Given the description of an element on the screen output the (x, y) to click on. 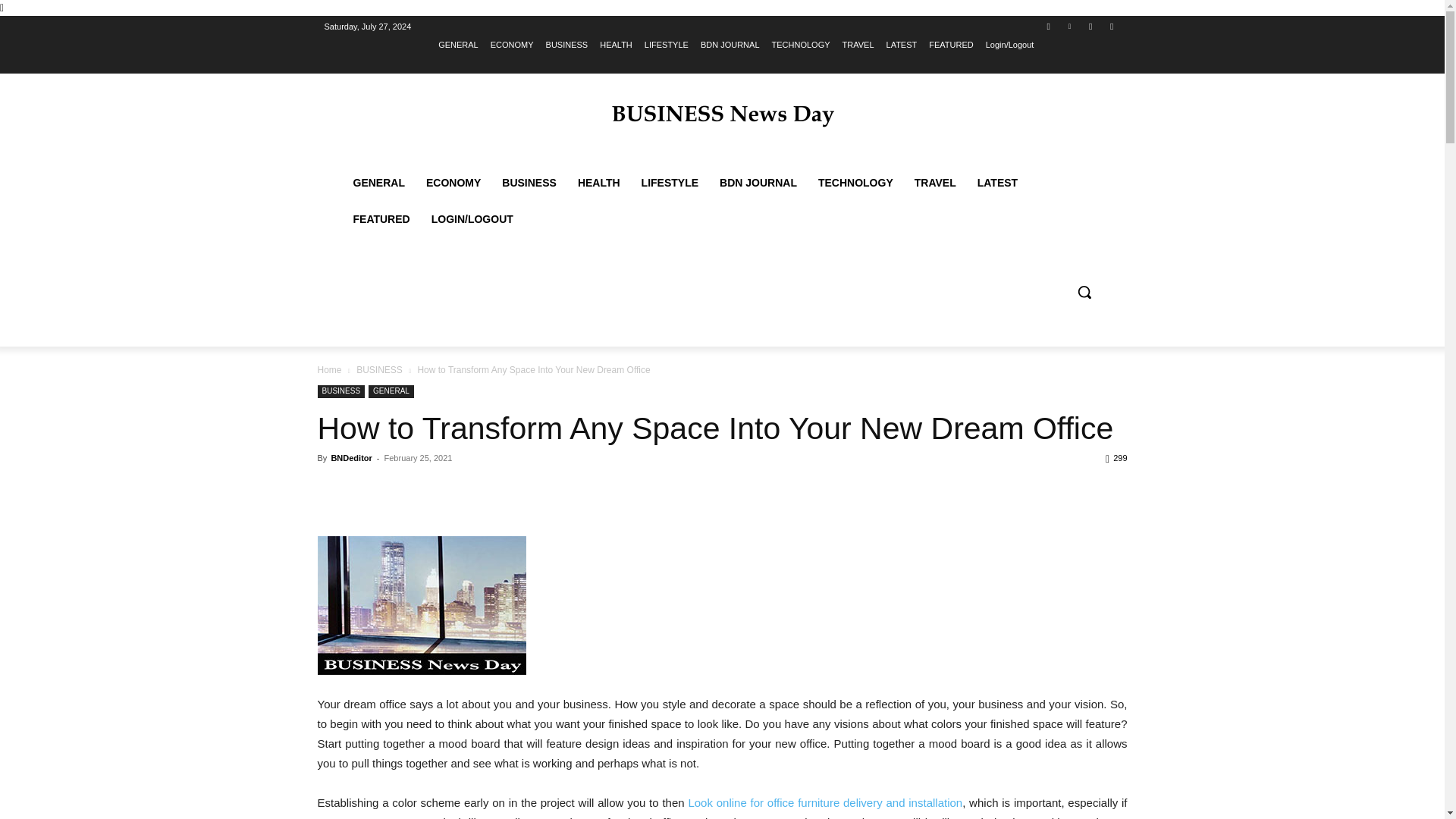
ECONOMY (453, 182)
GENERAL (458, 44)
TRAVEL (859, 44)
Youtube (1112, 27)
Linkedin (1069, 27)
Facebook (1048, 27)
LATEST (901, 44)
HEALTH (615, 44)
BUSINESS (567, 44)
FEATURED (950, 44)
BDN JOURNAL (730, 44)
ECONOMY (512, 44)
View all posts in BUSINESS (379, 369)
HEALTH (598, 182)
GENERAL (378, 182)
